Given the description of an element on the screen output the (x, y) to click on. 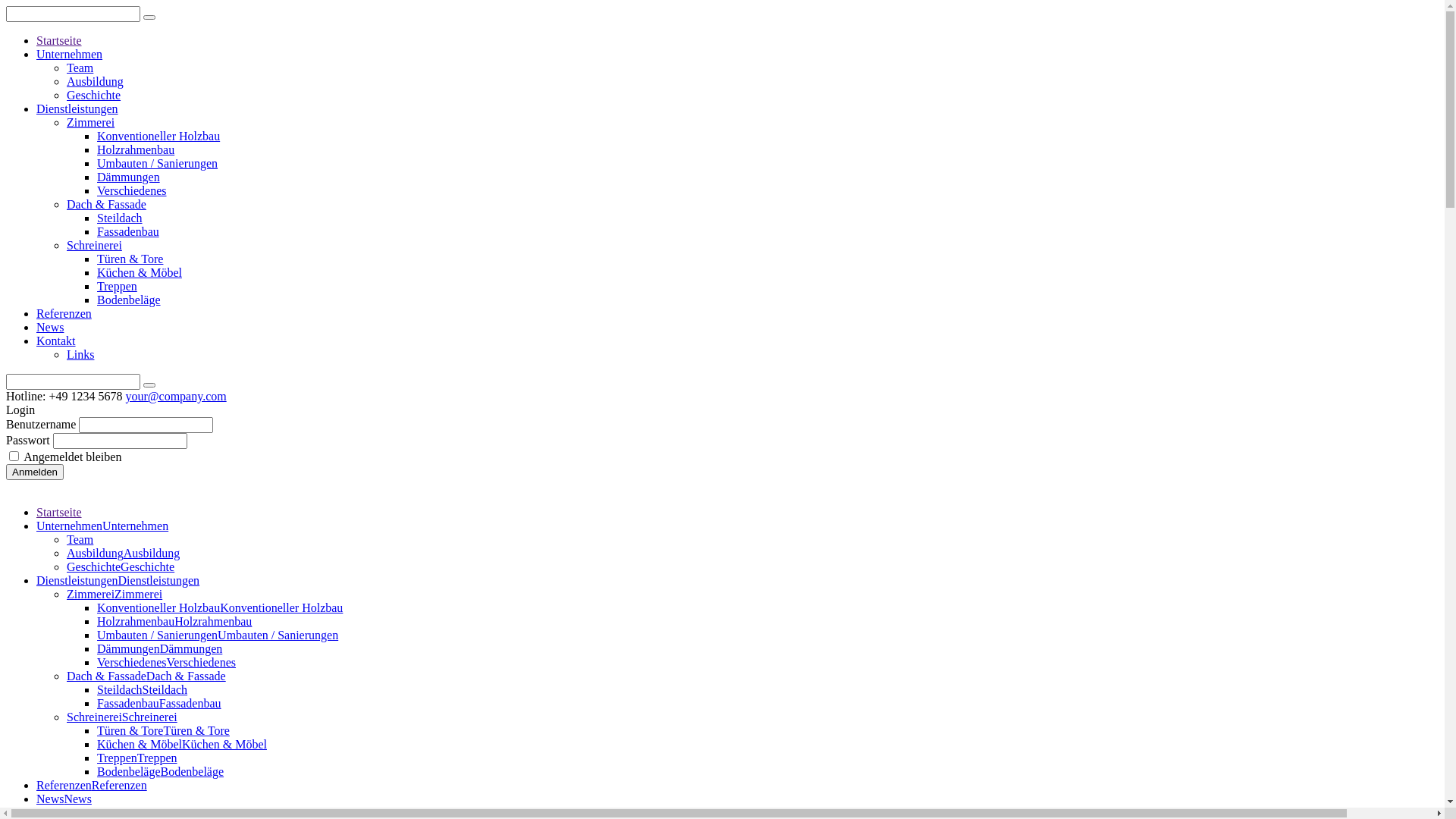
Zimmerei Element type: text (90, 122)
Ausbildung Element type: text (94, 81)
FassadenbauFassadenbau Element type: text (159, 702)
SteildachSteildach Element type: text (142, 689)
Team Element type: text (79, 67)
Verschiedenes Element type: text (131, 190)
Konventioneller Holzbau Element type: text (158, 135)
Links Element type: text (80, 354)
Treppen Element type: text (117, 285)
UnternehmenUnternehmen Element type: text (102, 525)
AusbildungAusbildung Element type: text (122, 552)
ZimmereiZimmerei Element type: text (114, 593)
Holzrahmenbau Element type: text (135, 149)
Konventioneller HolzbauKonventioneller Holzbau Element type: text (219, 607)
Referenzen Element type: text (63, 313)
Dach & Fassade Element type: text (106, 203)
Umbauten / SanierungenUmbauten / Sanierungen Element type: text (217, 634)
News Element type: text (49, 326)
Startseite Element type: text (58, 511)
Unternehmen Element type: text (69, 53)
HolzrahmenbauHolzrahmenbau Element type: text (174, 621)
NewsNews Element type: text (63, 798)
Fassadenbau Element type: text (128, 231)
Kontakt Element type: text (55, 340)
Umbauten / Sanierungen Element type: text (157, 162)
Geschichte Element type: text (93, 94)
your@company.com Element type: text (175, 395)
DienstleistungenDienstleistungen Element type: text (117, 580)
SchreinereiSchreinerei Element type: text (121, 716)
Anmelden Element type: text (34, 472)
Dienstleistungen Element type: text (77, 108)
Suchen Element type: text (149, 17)
TreppenTreppen Element type: text (137, 757)
VerschiedenesVerschiedenes Element type: text (166, 661)
Dach & FassadeDach & Fassade Element type: text (145, 675)
GeschichteGeschichte Element type: text (120, 566)
Schreinerei Element type: text (94, 244)
Suchen Element type: text (149, 384)
Team Element type: text (79, 539)
Steildach Element type: text (119, 217)
ReferenzenReferenzen Element type: text (91, 784)
Startseite Element type: text (58, 40)
